Given the description of an element on the screen output the (x, y) to click on. 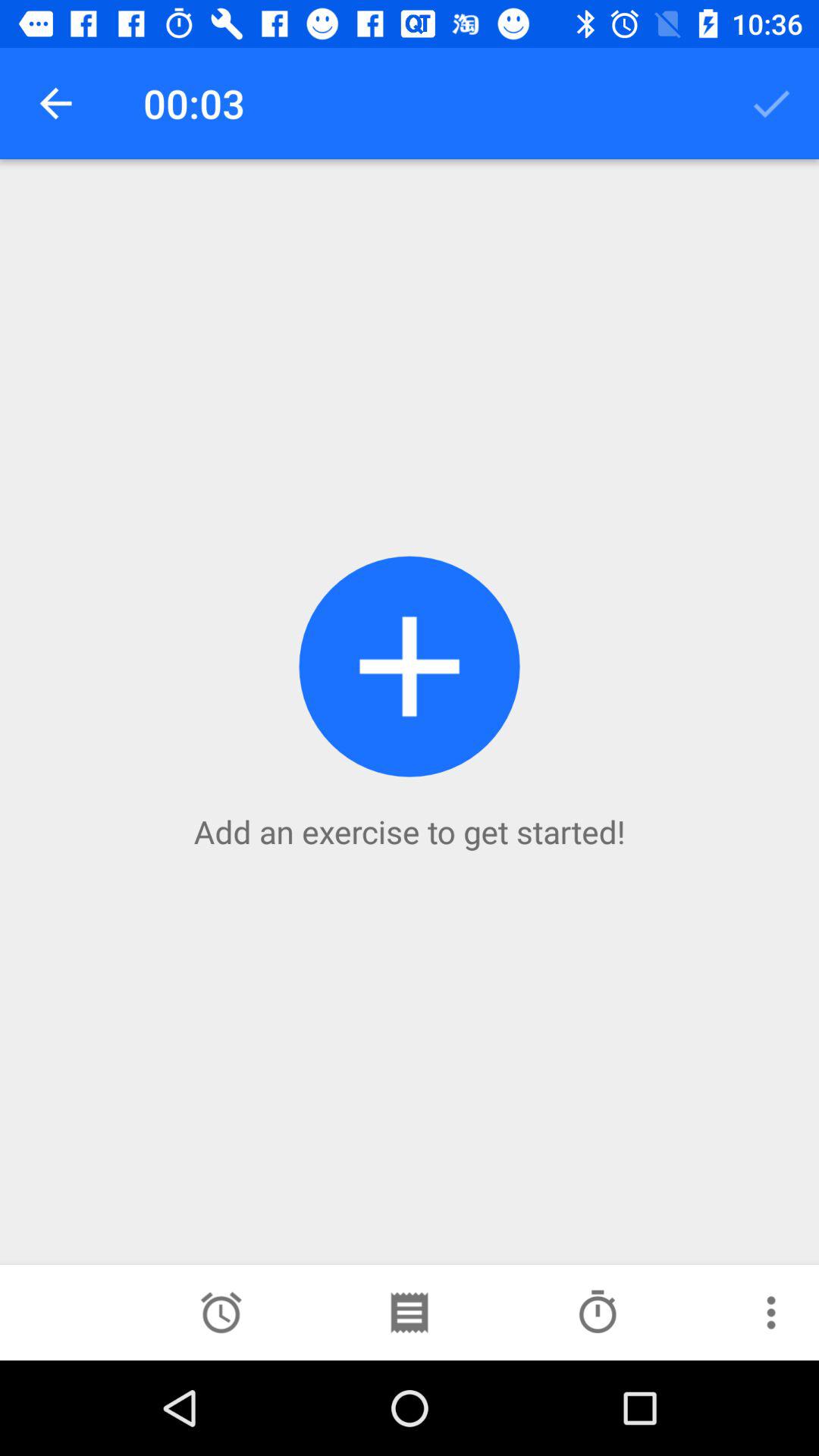
open icon at the bottom left corner (221, 1312)
